Given the description of an element on the screen output the (x, y) to click on. 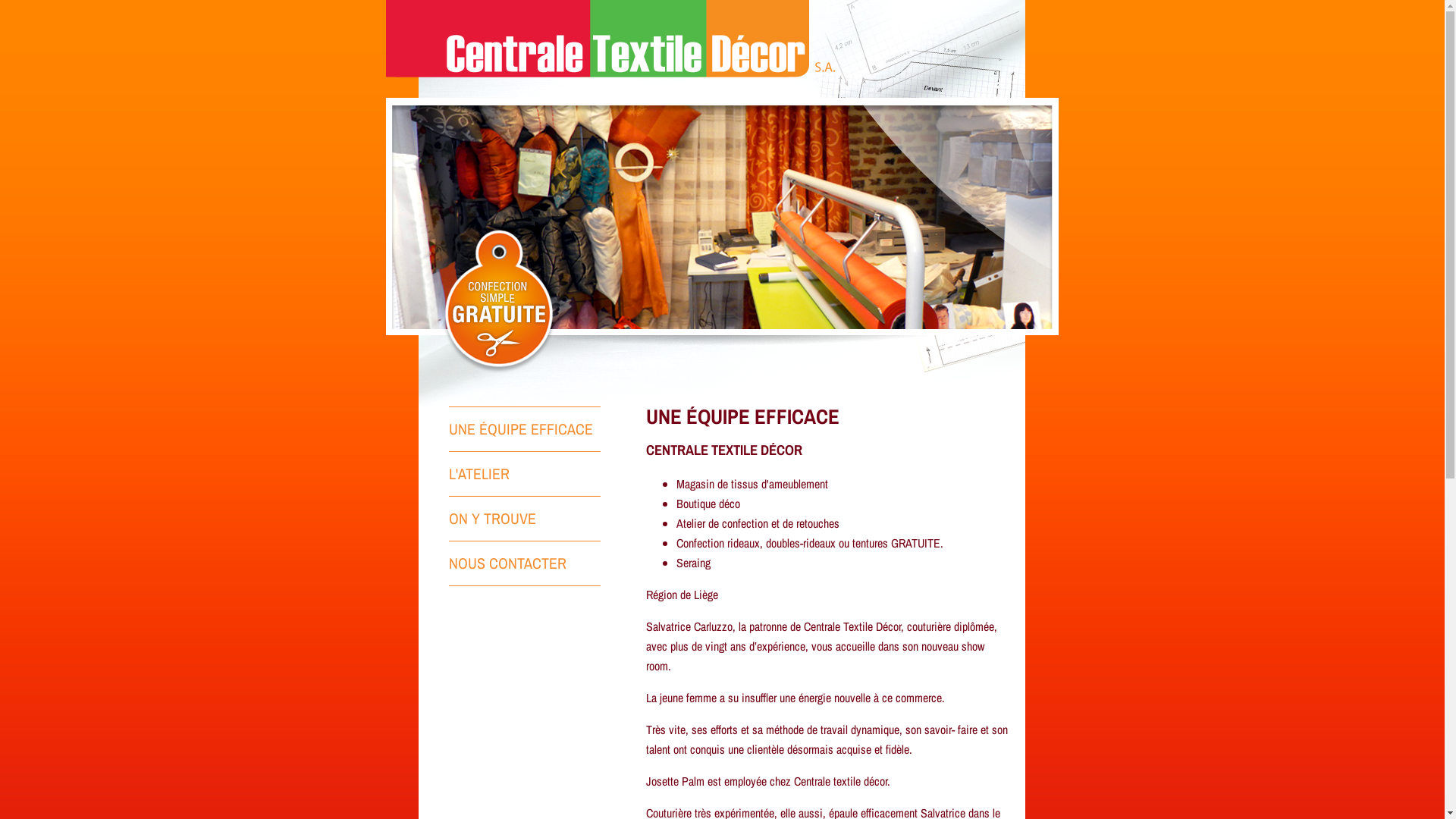
bann4_04 Element type: hover (721, 251)
L'ATELIER Element type: text (524, 473)
NOUS CONTACTER Element type: text (524, 562)
ON Y TROUVE Element type: text (524, 517)
